Given the description of an element on the screen output the (x, y) to click on. 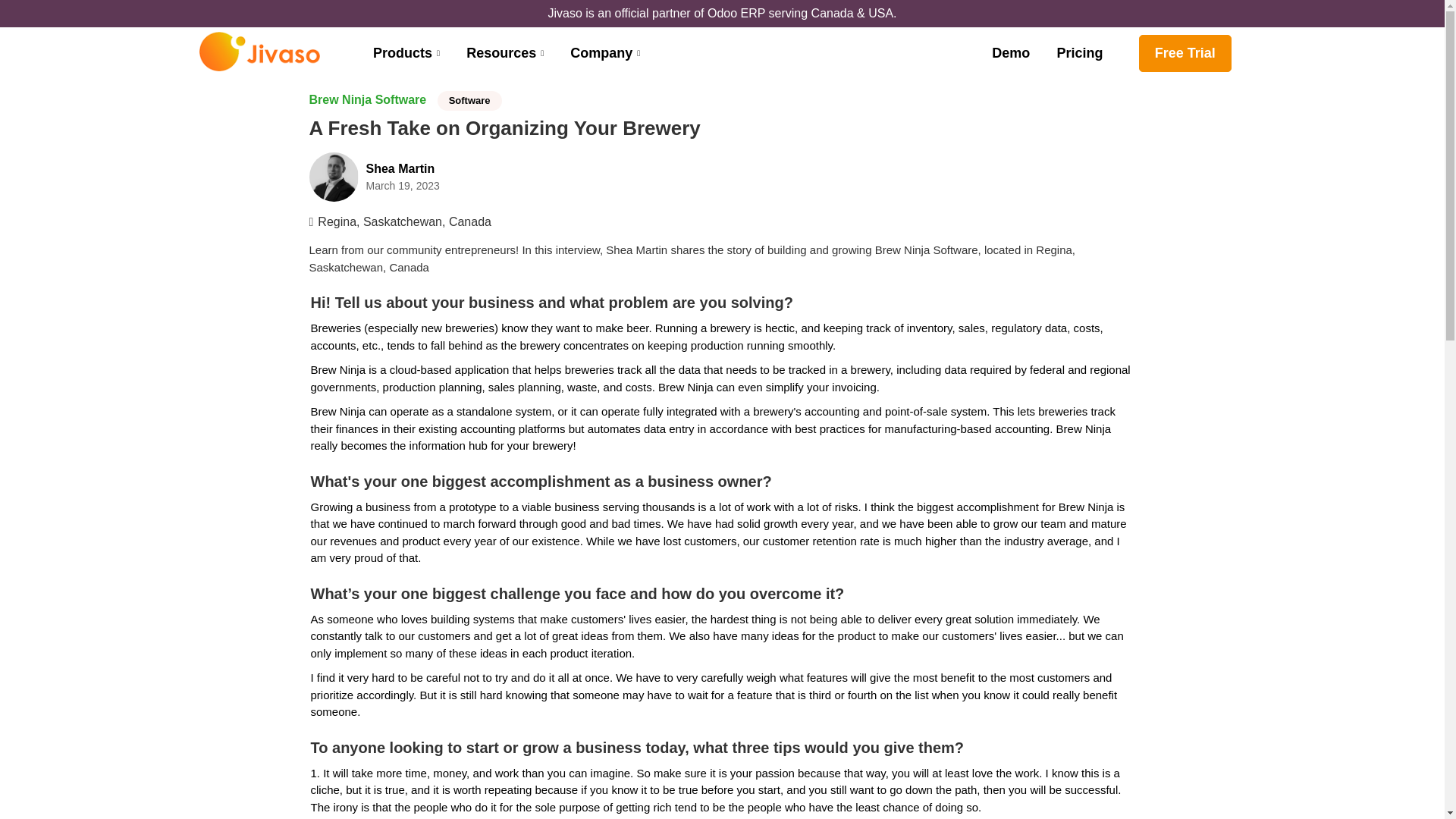
Demo (721, 176)
Free Trial (1010, 53)
Pricing (1184, 53)
Resources (1079, 53)
Products (506, 52)
Company (407, 52)
